Given the description of an element on the screen output the (x, y) to click on. 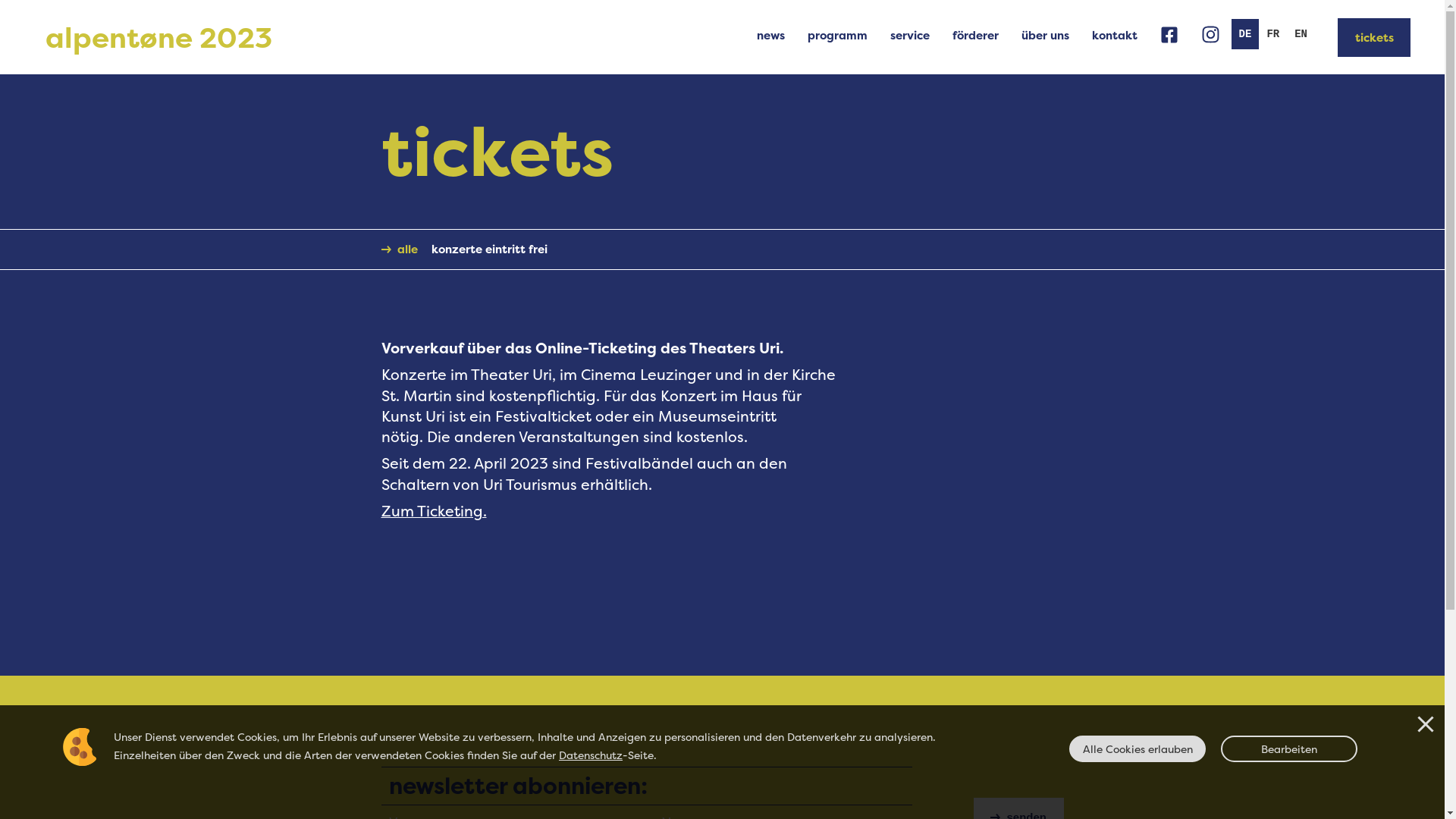
Datenschutz Element type: text (590, 754)
Zum Ticketing. Element type: text (433, 510)
alle Element type: text (401, 249)
EN Element type: text (1300, 34)
FR Element type: text (1272, 34)
konzerte eintritt frei Element type: text (485, 249)
DE Element type: text (1245, 34)
tickets Element type: text (1373, 37)
